Given the description of an element on the screen output the (x, y) to click on. 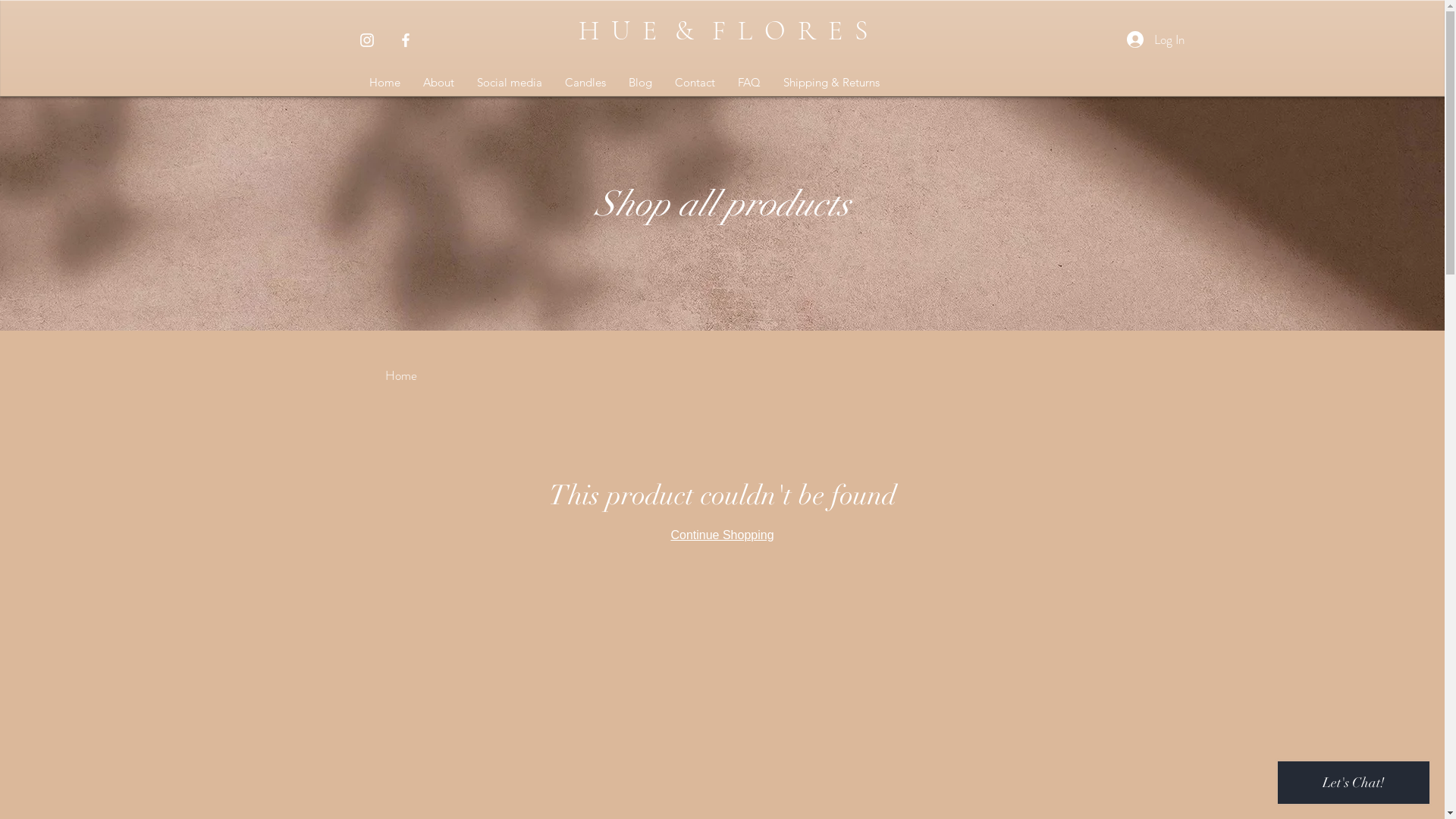
Shipping & Returns Element type: text (831, 81)
FAQ Element type: text (748, 81)
Log In Element type: text (1155, 39)
Home Element type: text (384, 81)
About Element type: text (437, 81)
Blog Element type: text (640, 81)
Social media Element type: text (509, 81)
Home Element type: text (401, 375)
Candles Element type: text (585, 81)
Contact Element type: text (693, 81)
H  U  E   &   F  L  O  R  E  S  Element type: text (725, 30)
Continue Shopping Element type: text (721, 534)
